Given the description of an element on the screen output the (x, y) to click on. 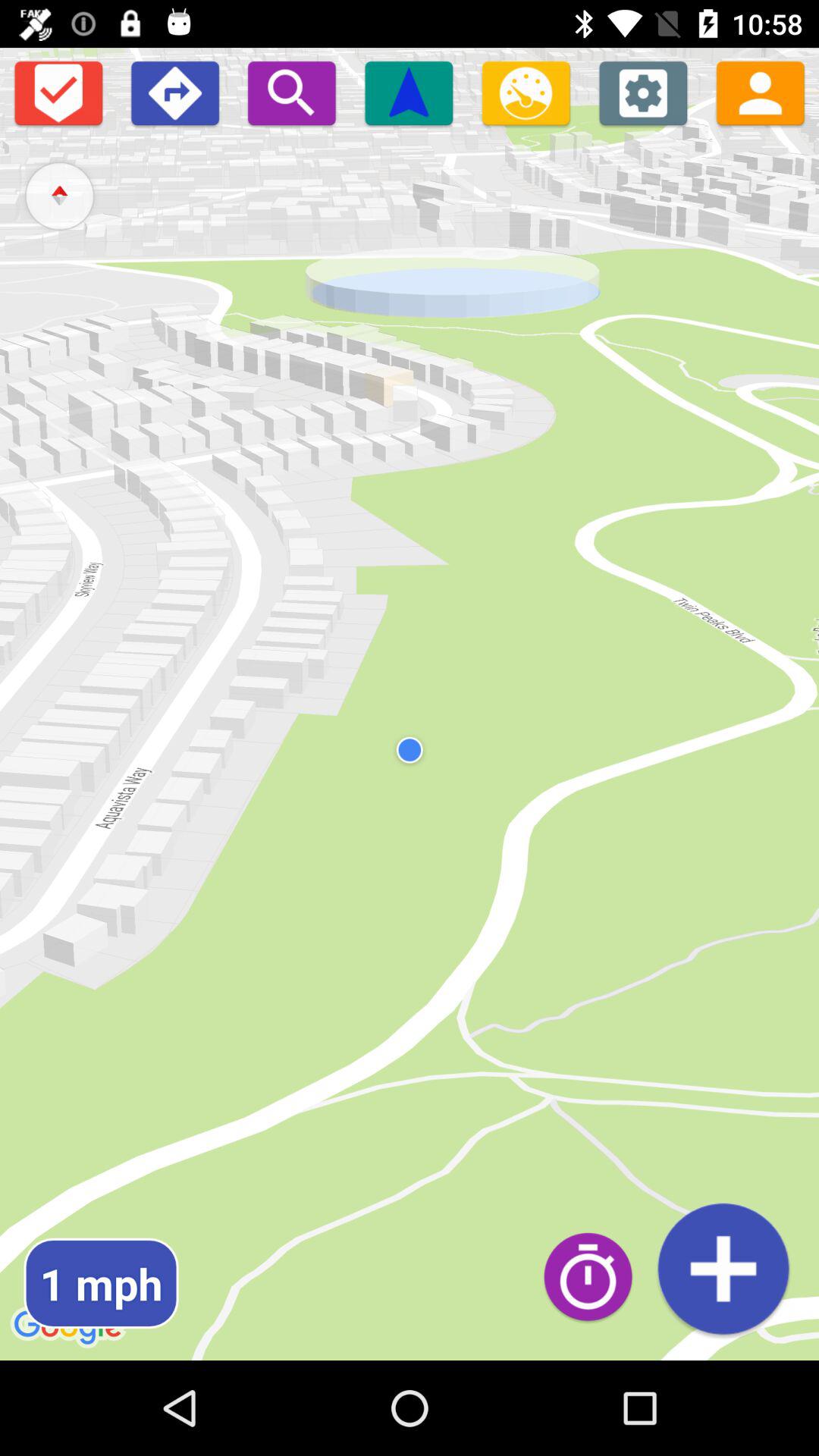
add route (723, 1268)
